Given the description of an element on the screen output the (x, y) to click on. 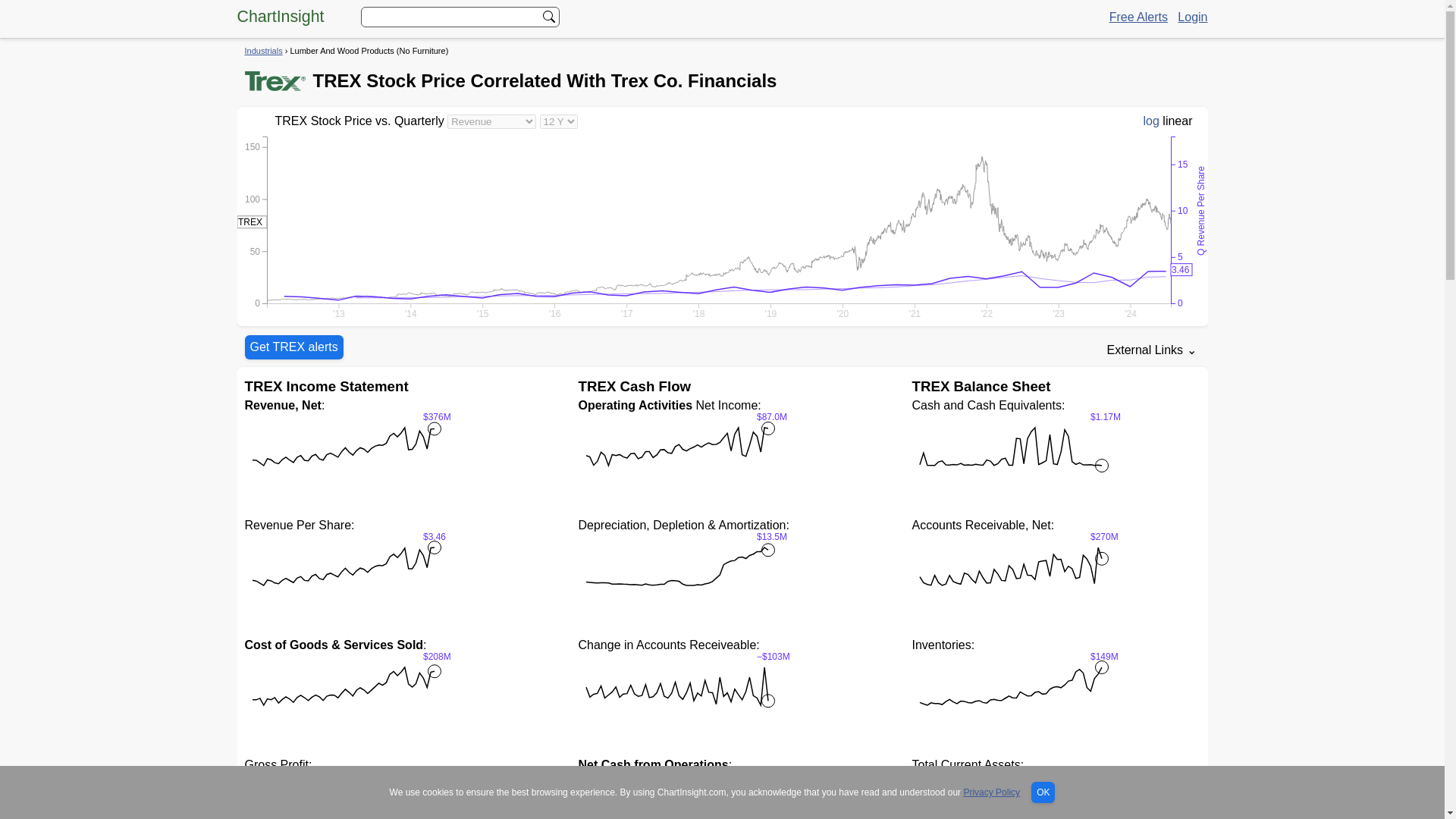
Login (1192, 16)
OK (1042, 792)
ChartInsight (279, 16)
Choose metric to compare to stock price (490, 121)
log (1150, 120)
Get TREX alerts (293, 346)
Free Alerts (1138, 16)
linear (1176, 120)
